Given the description of an element on the screen output the (x, y) to click on. 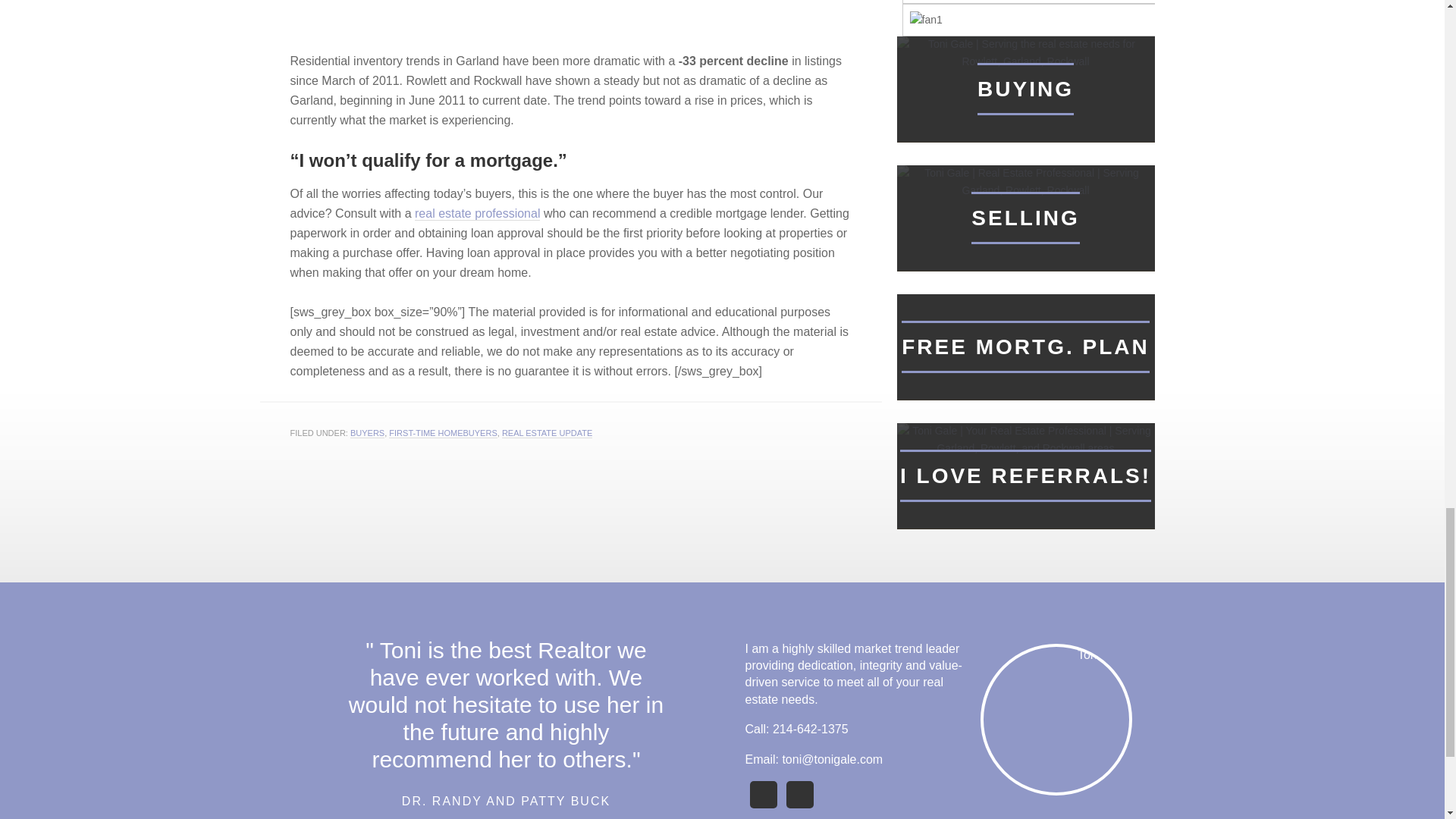
FIRST-TIME HOMEBUYERS (442, 433)
Do I Really Need A Real Estate Agent? (477, 213)
real estate professional (477, 213)
BUYERS (367, 433)
REAL ESTATE UPDATE (547, 433)
